Given the description of an element on the screen output the (x, y) to click on. 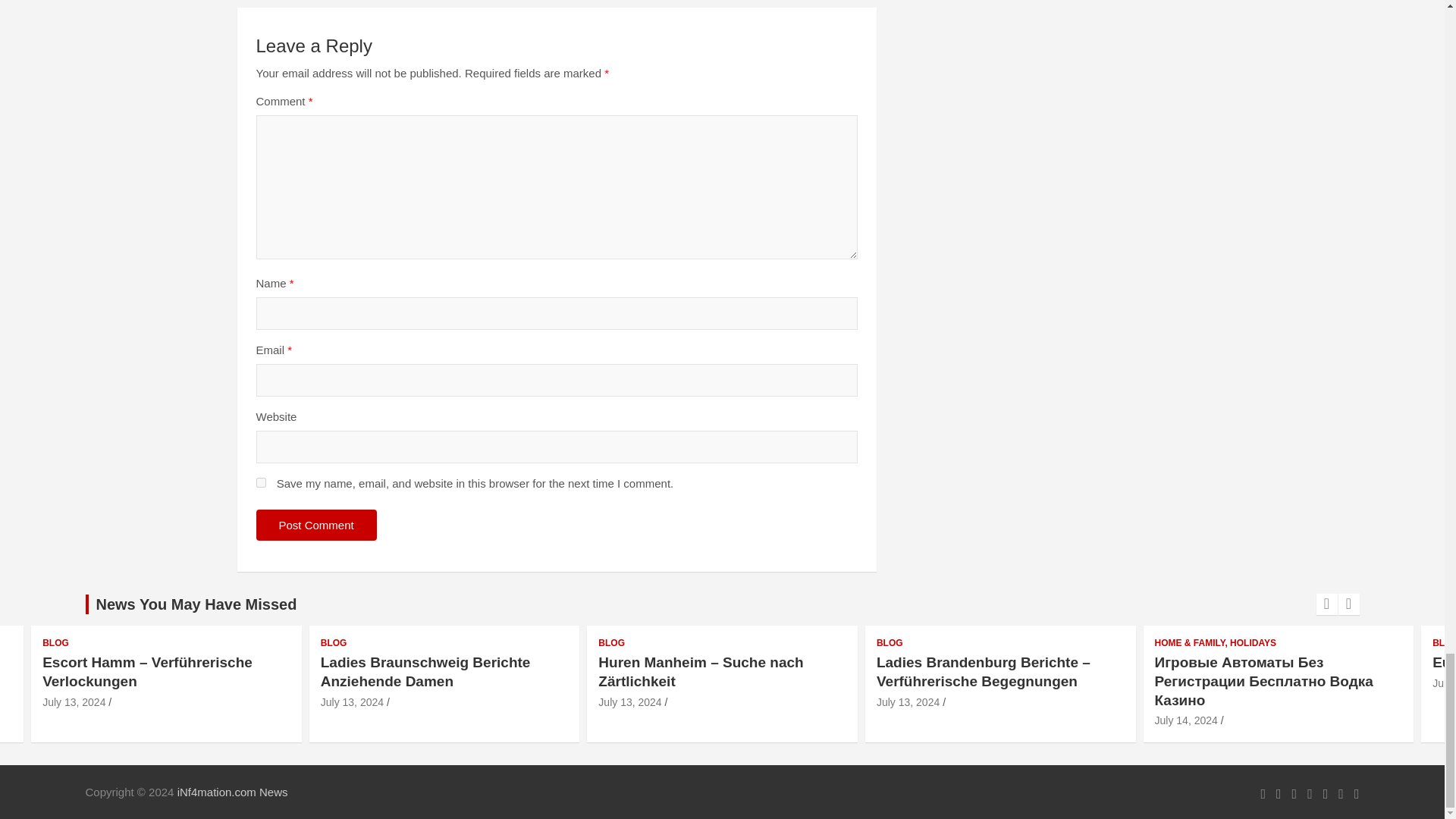
yes (261, 482)
Post Comment (316, 524)
Post Comment (316, 524)
